Given the description of an element on the screen output the (x, y) to click on. 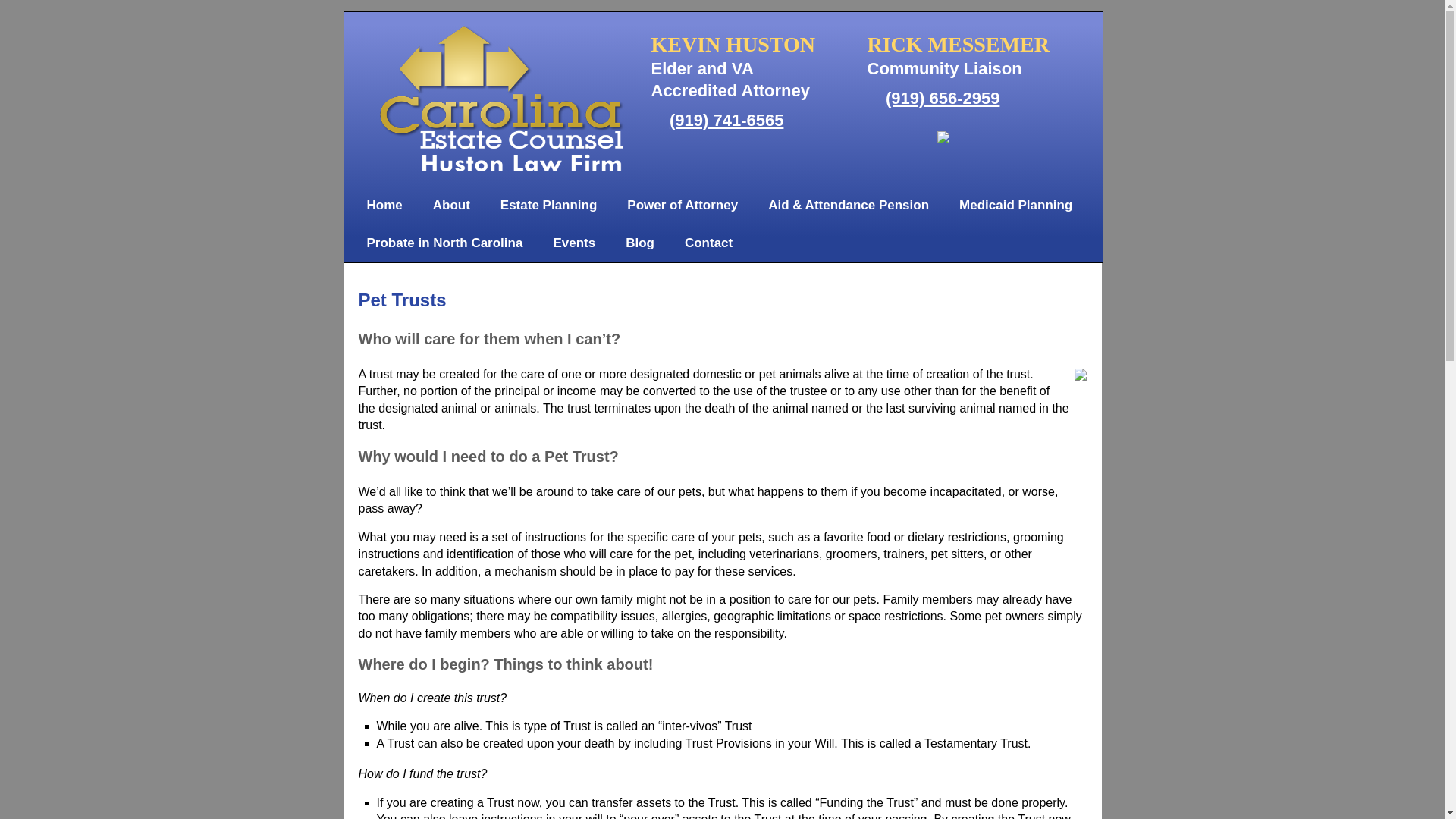
About (450, 205)
Contact (708, 243)
Probate in North Carolina (445, 243)
Medicaid Planning (1015, 205)
Blog (639, 243)
Estate Planning (548, 205)
Events (573, 243)
Home (384, 205)
Power of Attorney (681, 205)
